Given the description of an element on the screen output the (x, y) to click on. 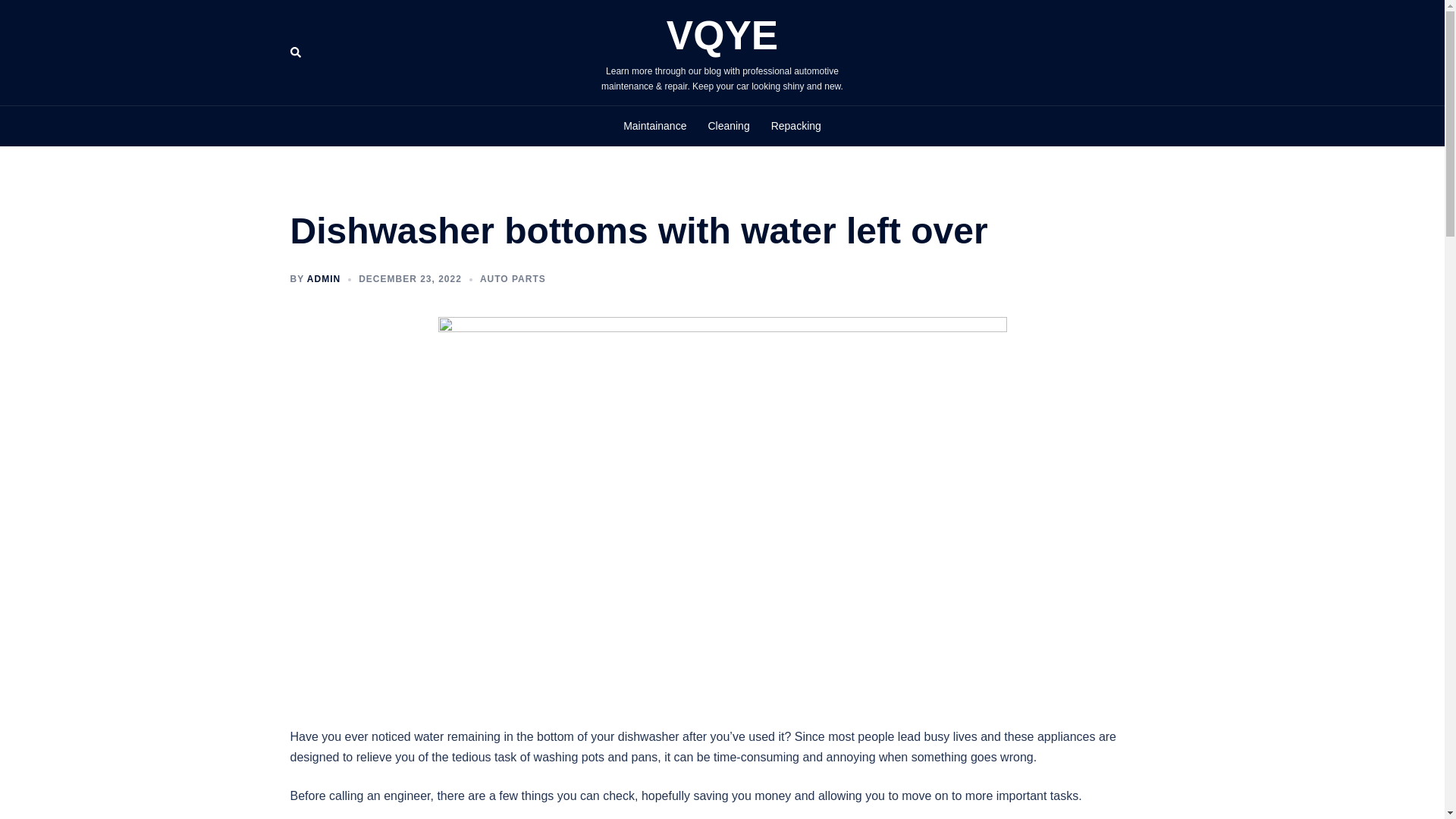
AUTO PARTS (513, 278)
Cleaning (728, 126)
VQYE (721, 35)
Repacking (796, 126)
Maintainance (654, 126)
DECEMBER 23, 2022 (409, 278)
ADMIN (323, 278)
